Given the description of an element on the screen output the (x, y) to click on. 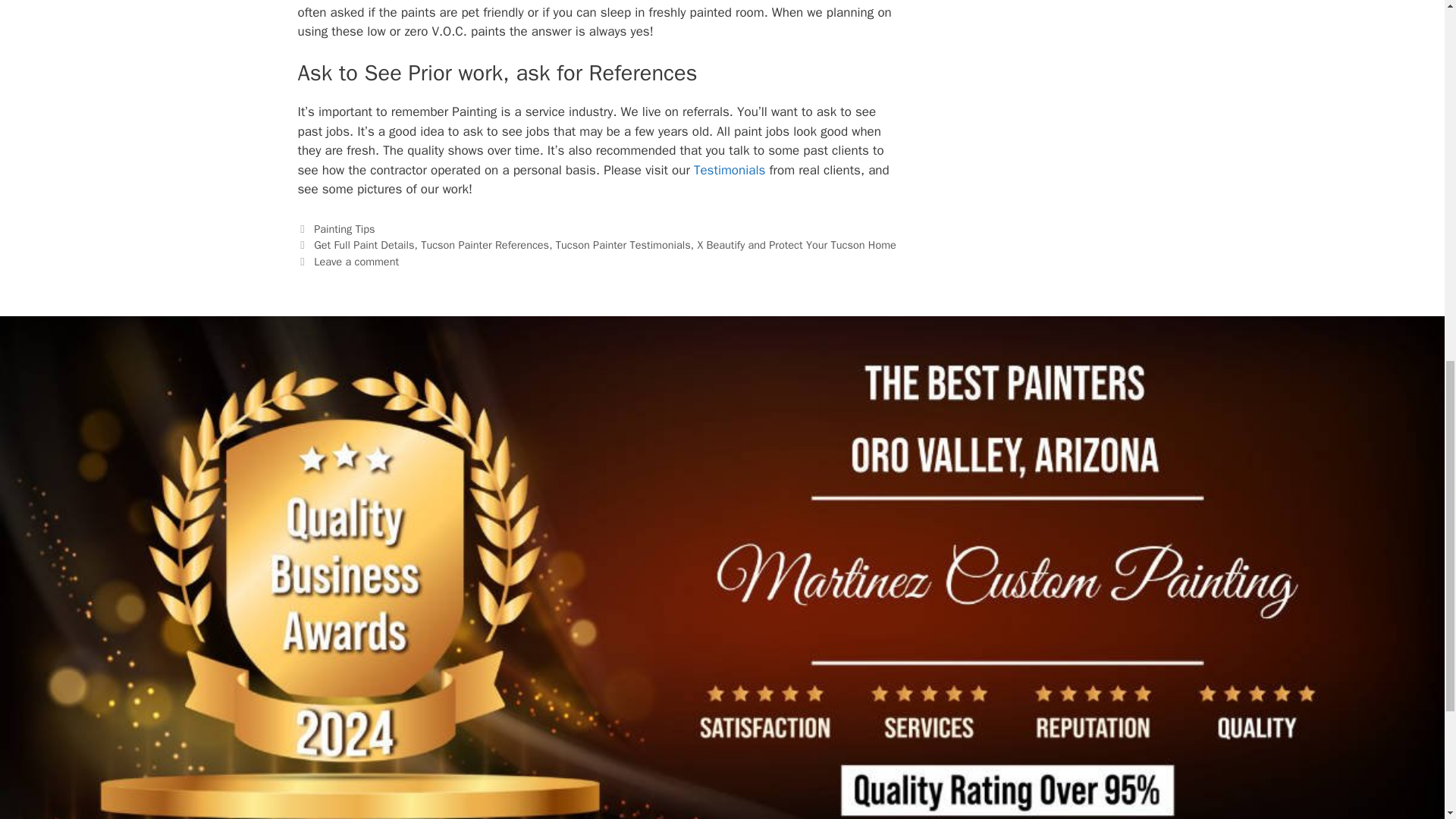
Leave a comment (356, 261)
Testimonials (729, 170)
Get Full Paint Details (363, 244)
Tucson Painter Testimonials (729, 170)
Painting Tips (344, 228)
Tucson Painter References (484, 244)
X Beautify and Protect Your Tucson Home (796, 244)
Tucson Painter Testimonials (623, 244)
